Given the description of an element on the screen output the (x, y) to click on. 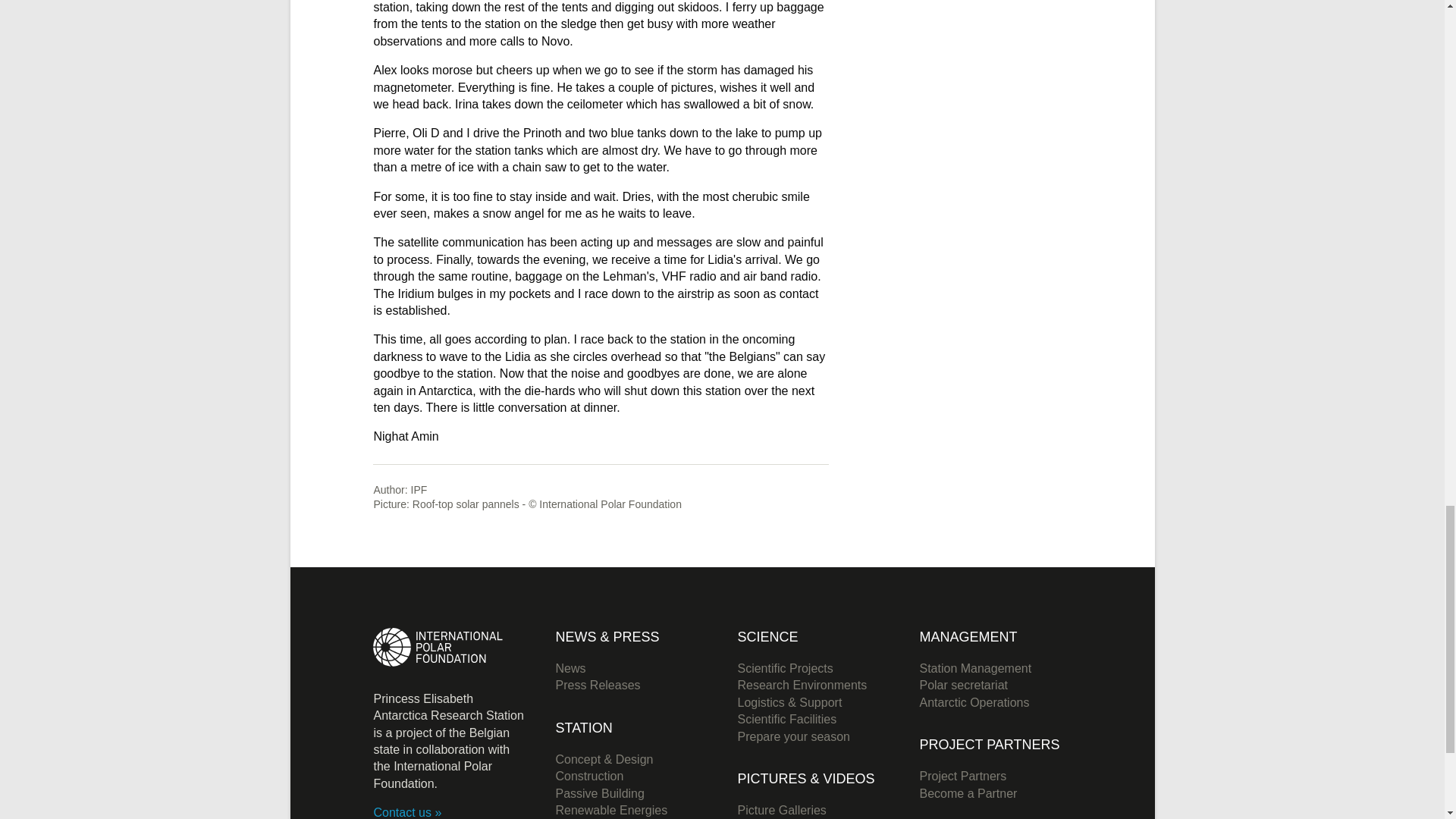
Renewable Energies (610, 809)
Become a Partner (967, 793)
Prepare your season (793, 736)
Contact us (406, 812)
Station Management (974, 667)
Scientific Facilities (785, 718)
Project Partners (962, 775)
Passive Building (598, 793)
Press Releases (597, 684)
Construction (588, 775)
Scientific Projects (784, 667)
Picture Galleries (780, 809)
Research Environments (801, 684)
Polar secretariat (962, 684)
News (569, 667)
